Given the description of an element on the screen output the (x, y) to click on. 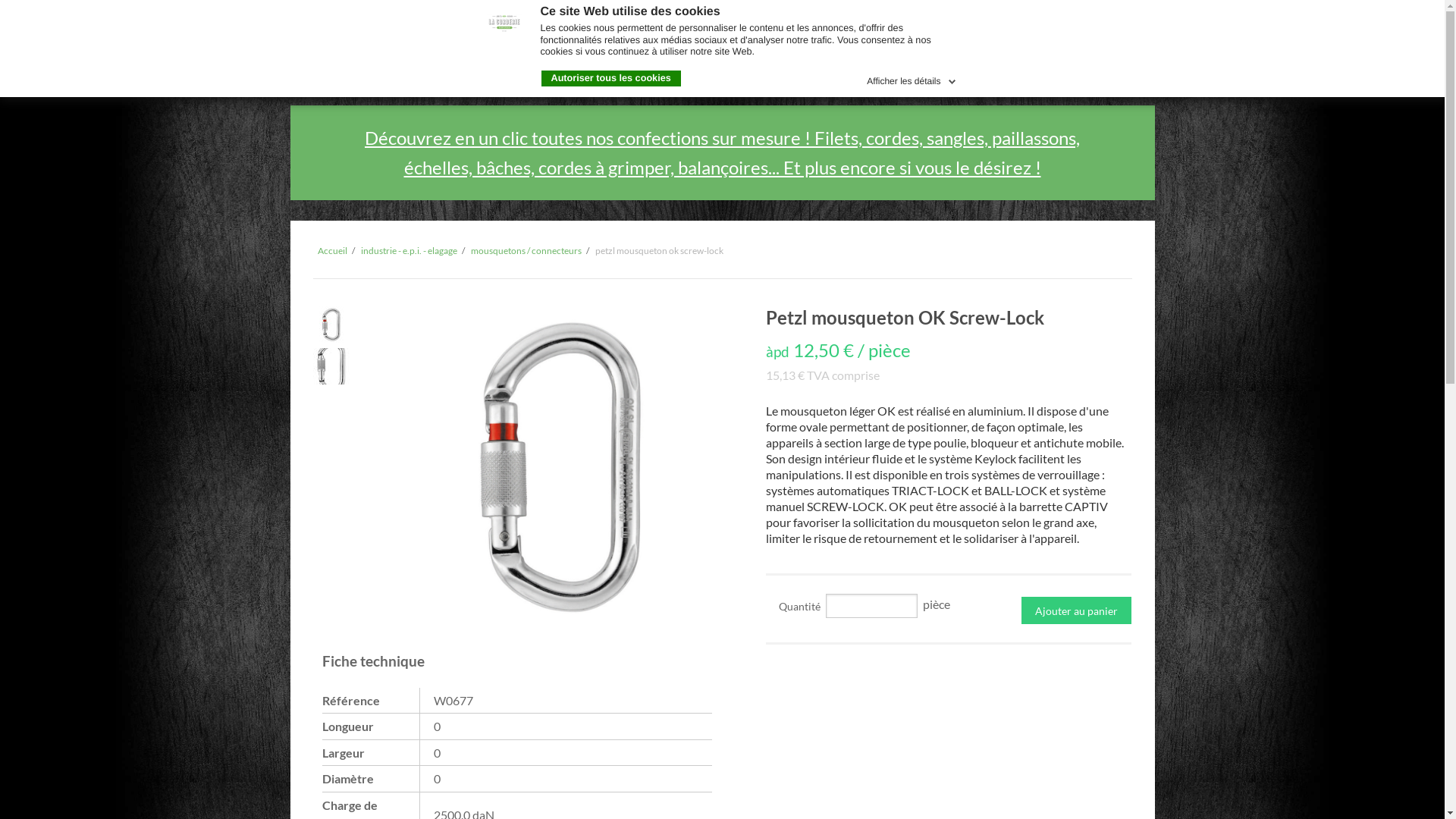
petzl mousqueton ok screw-lock Element type: text (658, 250)
Nous contacter Element type: text (622, 72)
mousquetons / connecteurs Element type: text (525, 250)
fr Element type: text (1101, 22)
Histoire Element type: text (533, 72)
nl Element type: text (1122, 22)
Livraison Element type: text (714, 72)
Accueil Element type: text (331, 250)
Ajouter au panier Element type: text (1076, 610)
industrie - e.p.i. - elagage Element type: text (408, 250)
Connexion Element type: text (1101, 74)
Autoriser tous les cookies Element type: text (610, 78)
Catalogue Element type: text (460, 72)
en Element type: text (1144, 22)
